Given the description of an element on the screen output the (x, y) to click on. 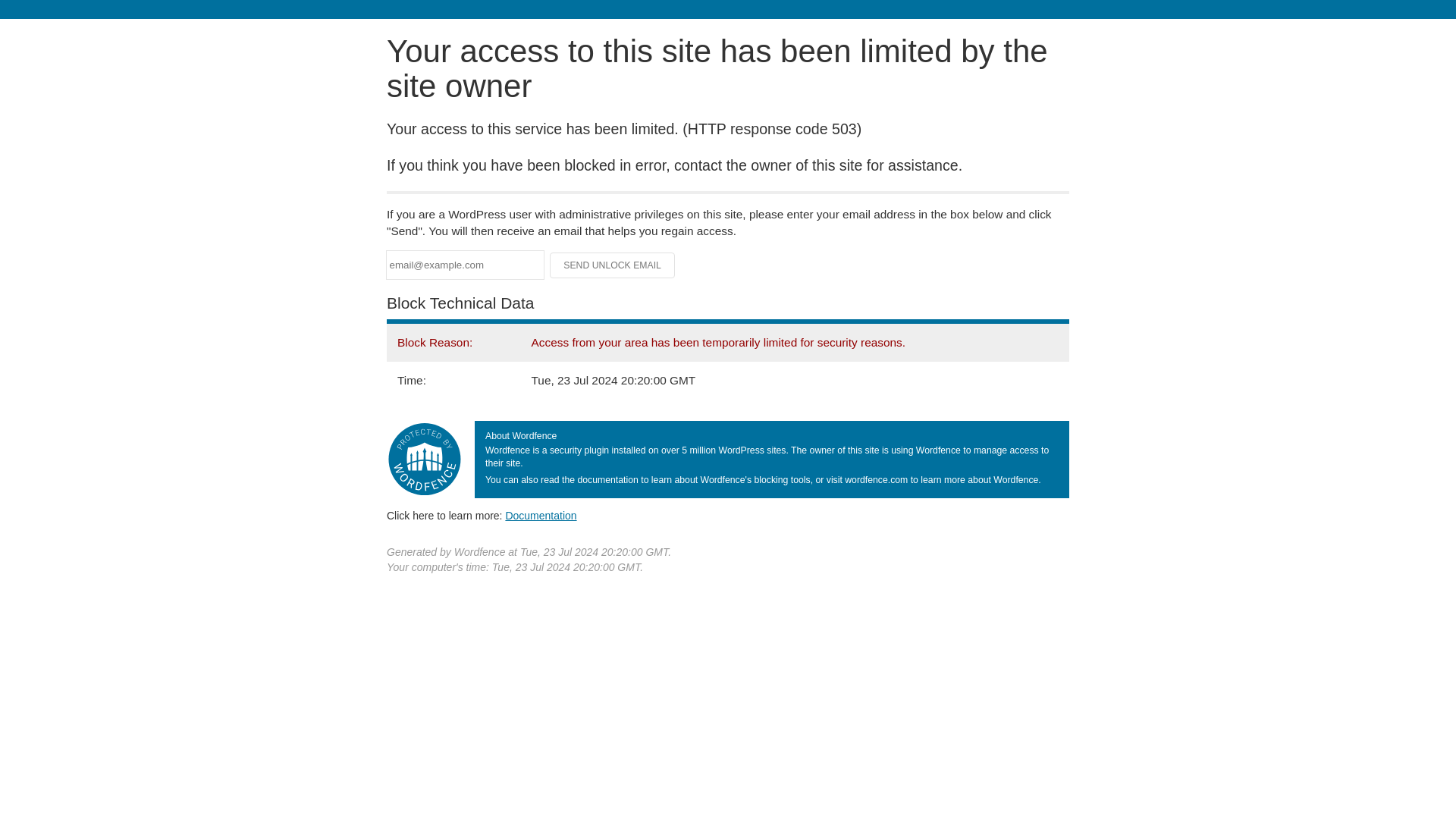
Send Unlock Email (612, 265)
Documentation (540, 515)
Send Unlock Email (612, 265)
